Given the description of an element on the screen output the (x, y) to click on. 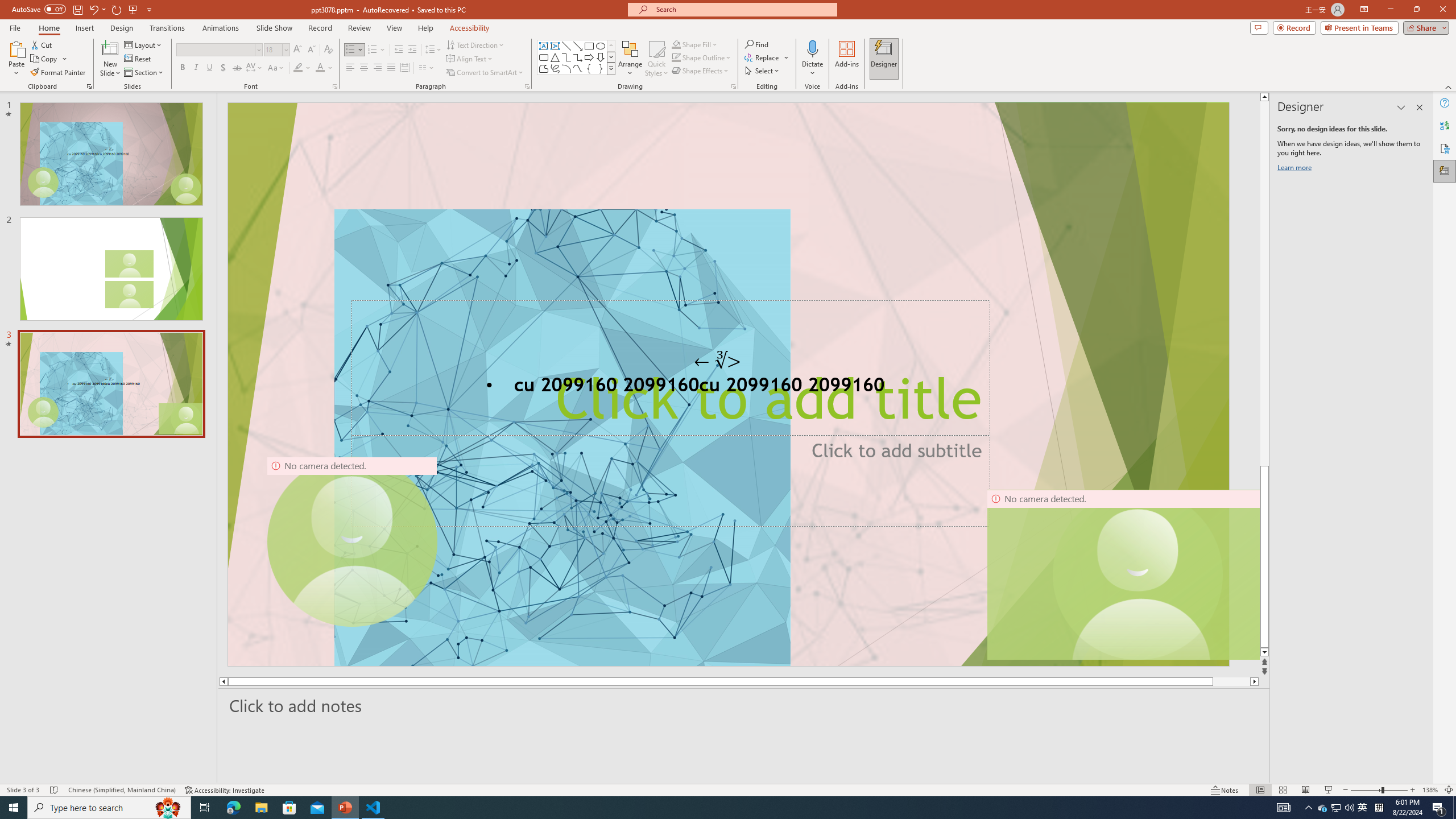
Learn more (1295, 169)
